Given the description of an element on the screen output the (x, y) to click on. 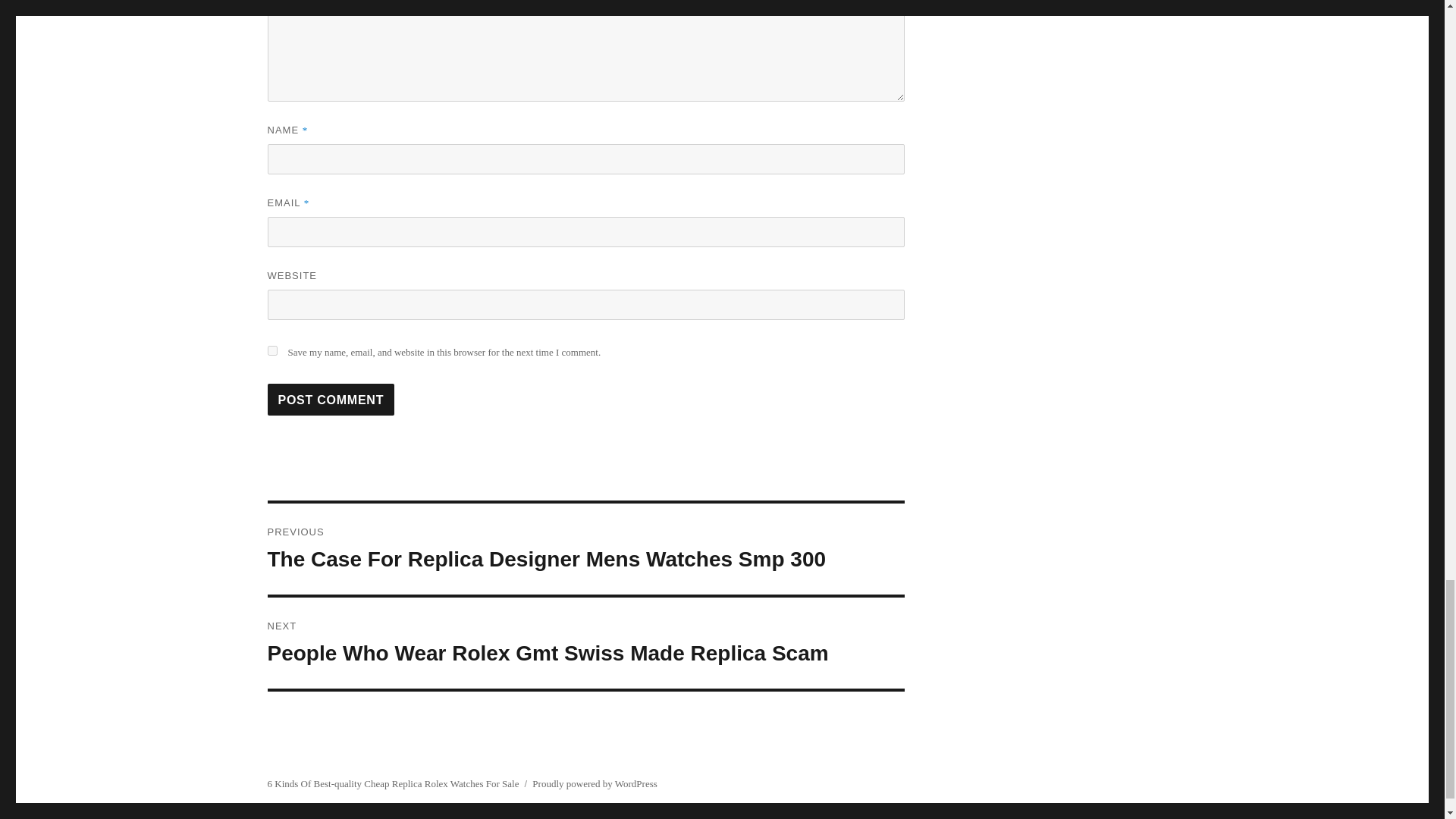
yes (271, 350)
Post Comment (330, 399)
Post Comment (330, 399)
